Given the description of an element on the screen output the (x, y) to click on. 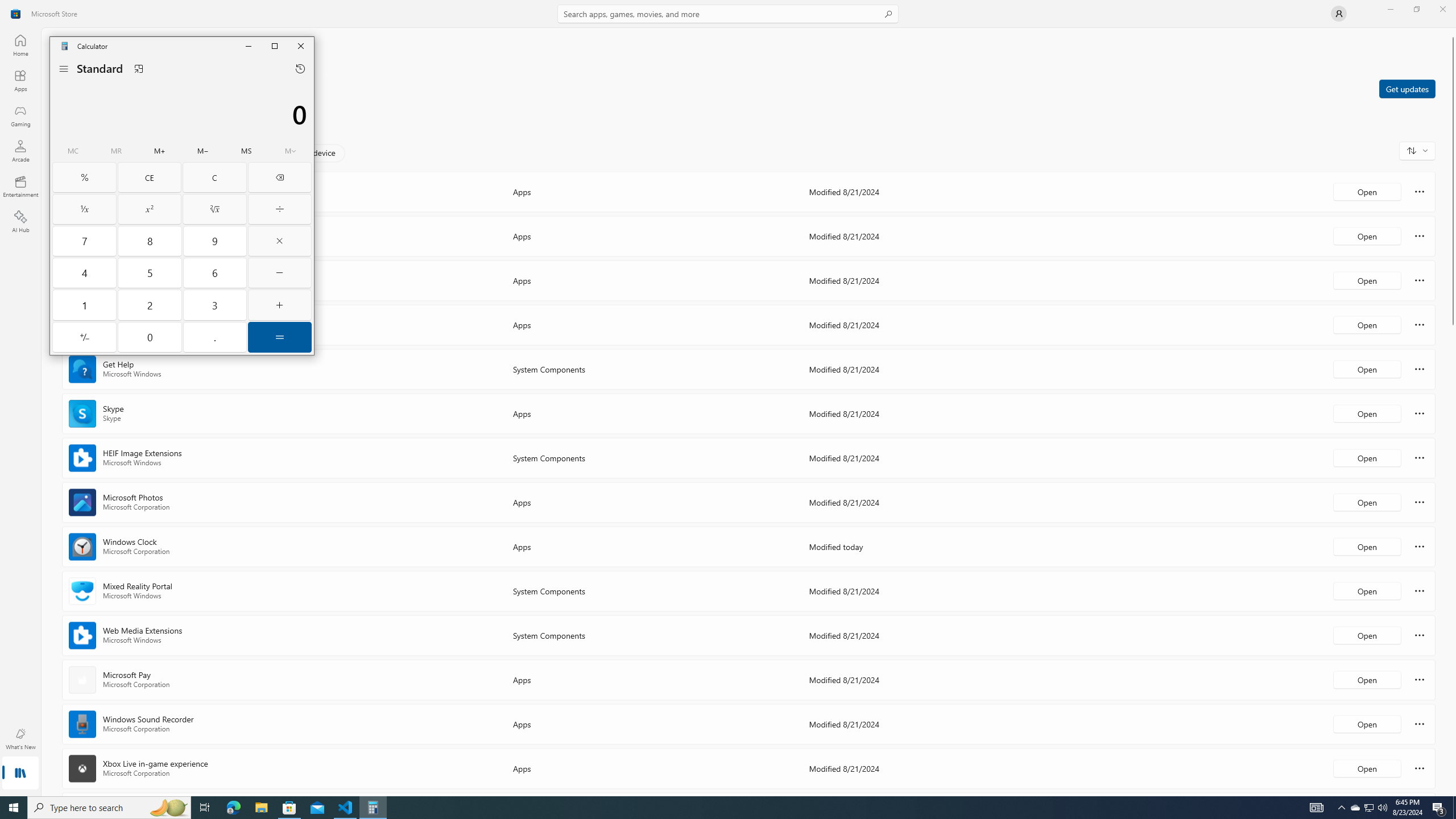
Plus (279, 305)
Percent (84, 177)
Clear (214, 177)
Eight (149, 241)
Close Microsoft Store (1442, 9)
Class: Image (15, 13)
Nine (215, 241)
What's New (20, 738)
Square (149, 209)
One (84, 305)
Q2790: 100% (1382, 807)
Search highlights icon opens search home window (167, 807)
Apps (20, 80)
Memory add (159, 151)
Gaming (20, 115)
